Given the description of an element on the screen output the (x, y) to click on. 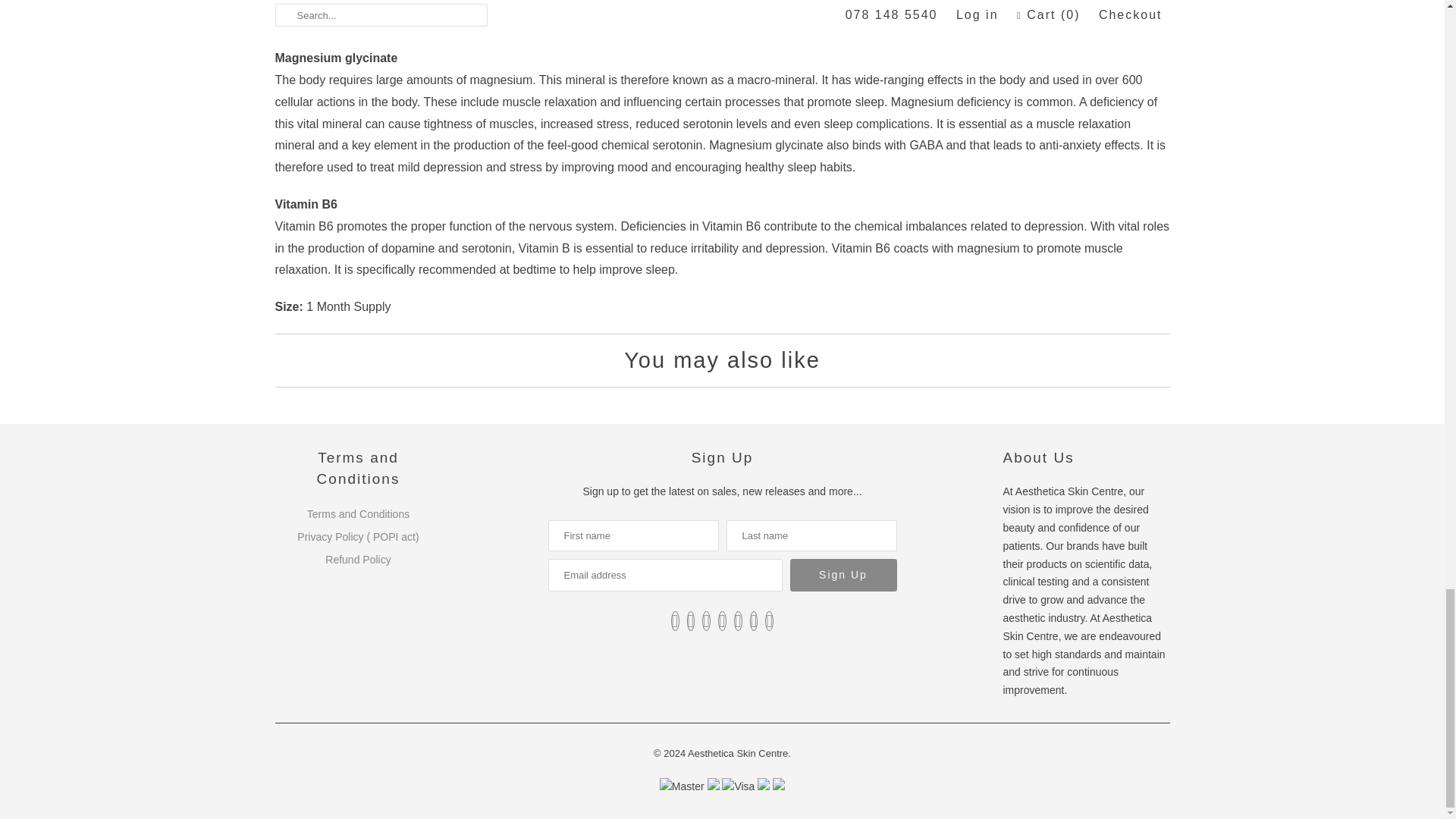
Terms and Conditions (358, 513)
Sign Up (843, 574)
Sign Up (843, 574)
Refund Policy (357, 559)
